Given the description of an element on the screen output the (x, y) to click on. 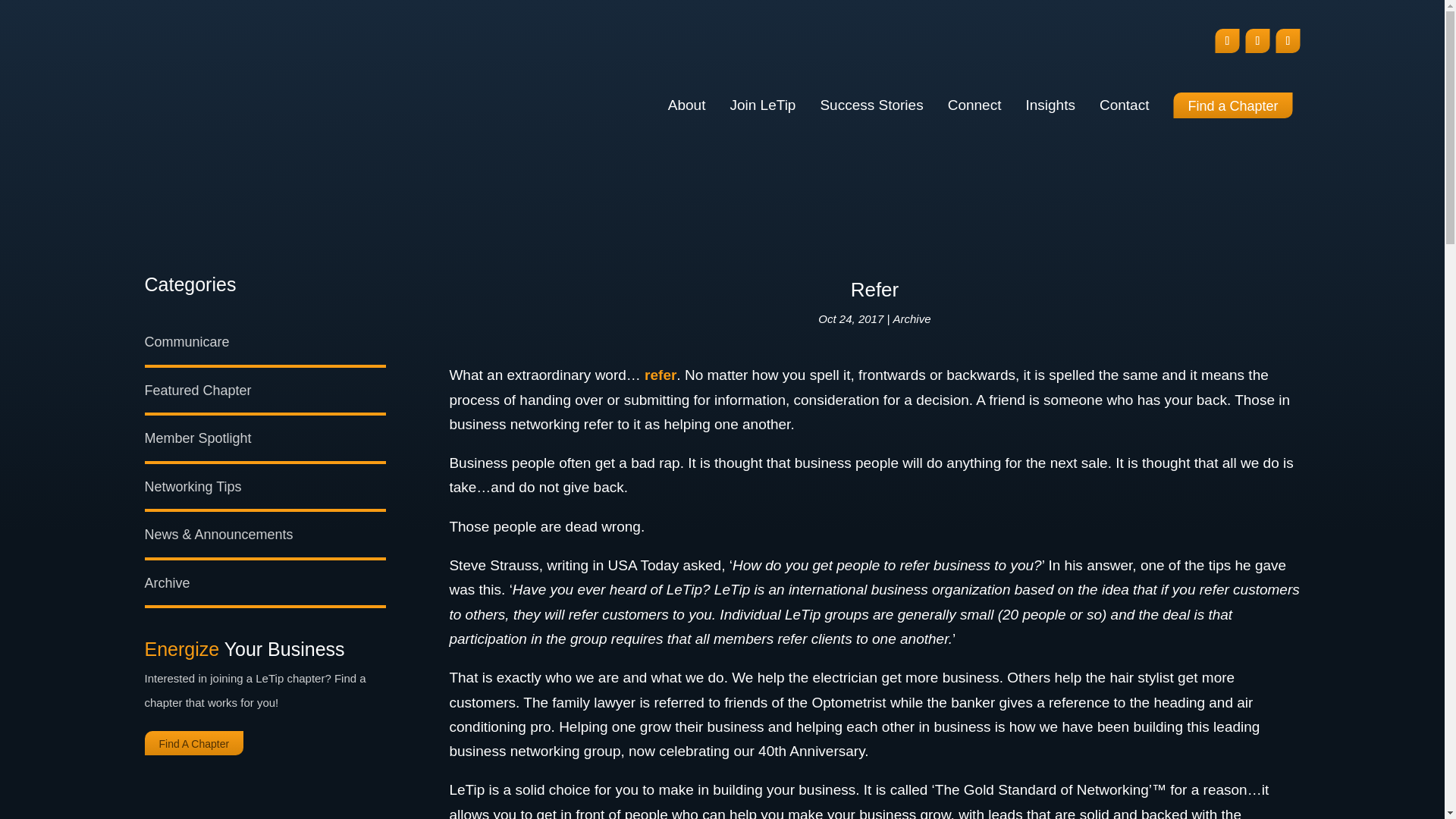
Follow on X (1287, 40)
About (687, 104)
Join LeTip (761, 104)
Member Spotlight (197, 437)
Networking Tips (192, 486)
Communicare (186, 341)
Featured Chapter (197, 389)
Archive (912, 318)
Connect (974, 104)
Contact (1123, 104)
